Given the description of an element on the screen output the (x, y) to click on. 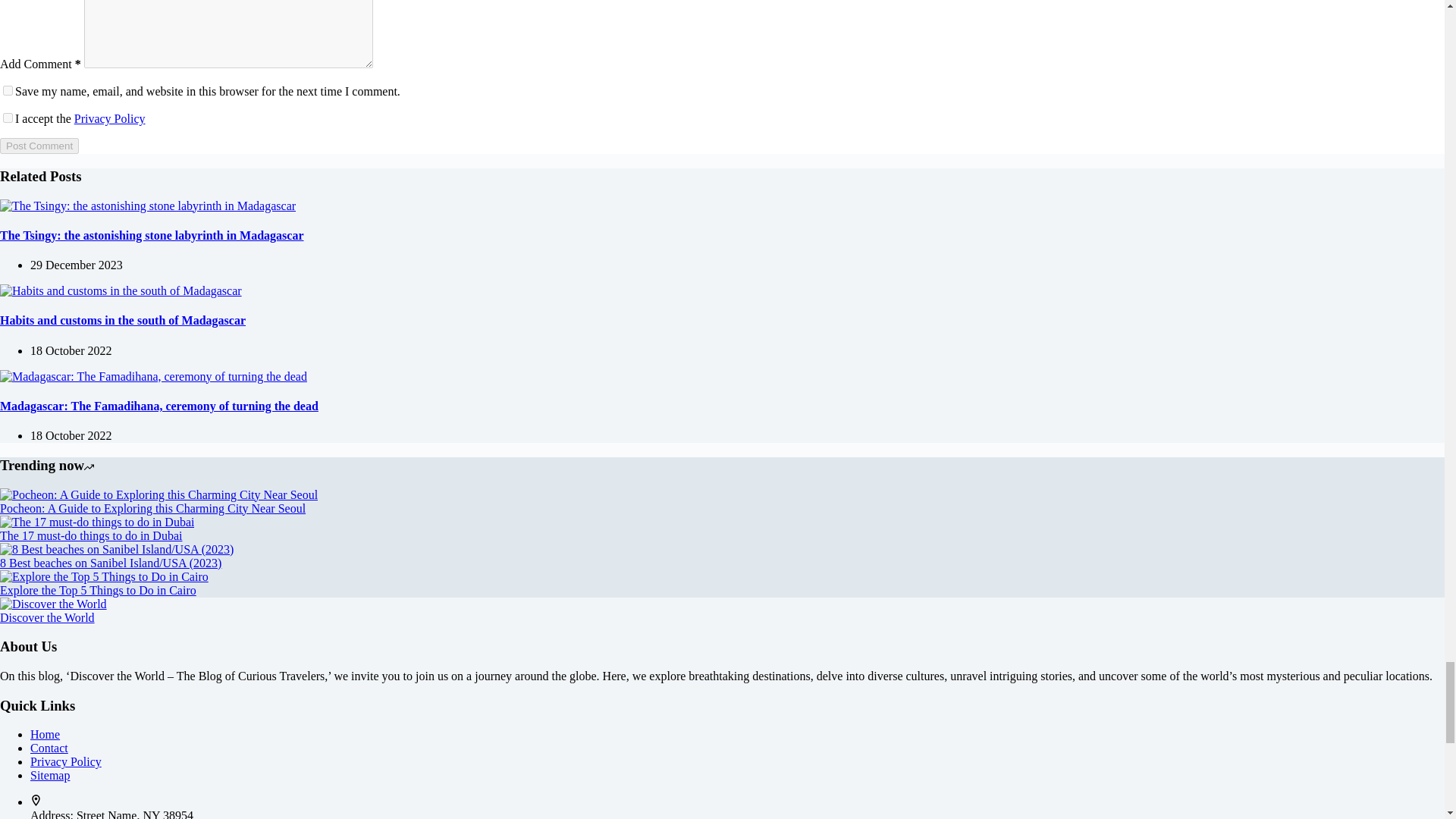
yes (7, 90)
The Tsingy: the astonishing stone labyrinth in Madagascar (147, 205)
on (7, 117)
Madagascar: The Famadihana, ceremony of turning the dead (153, 377)
The 17 must-do things to do in Dubai (96, 522)
Habits and customs in the south of Madagascar (120, 291)
Pocheon: A Guide to Exploring this Charming City Near Seoul (158, 495)
